Given the description of an element on the screen output the (x, y) to click on. 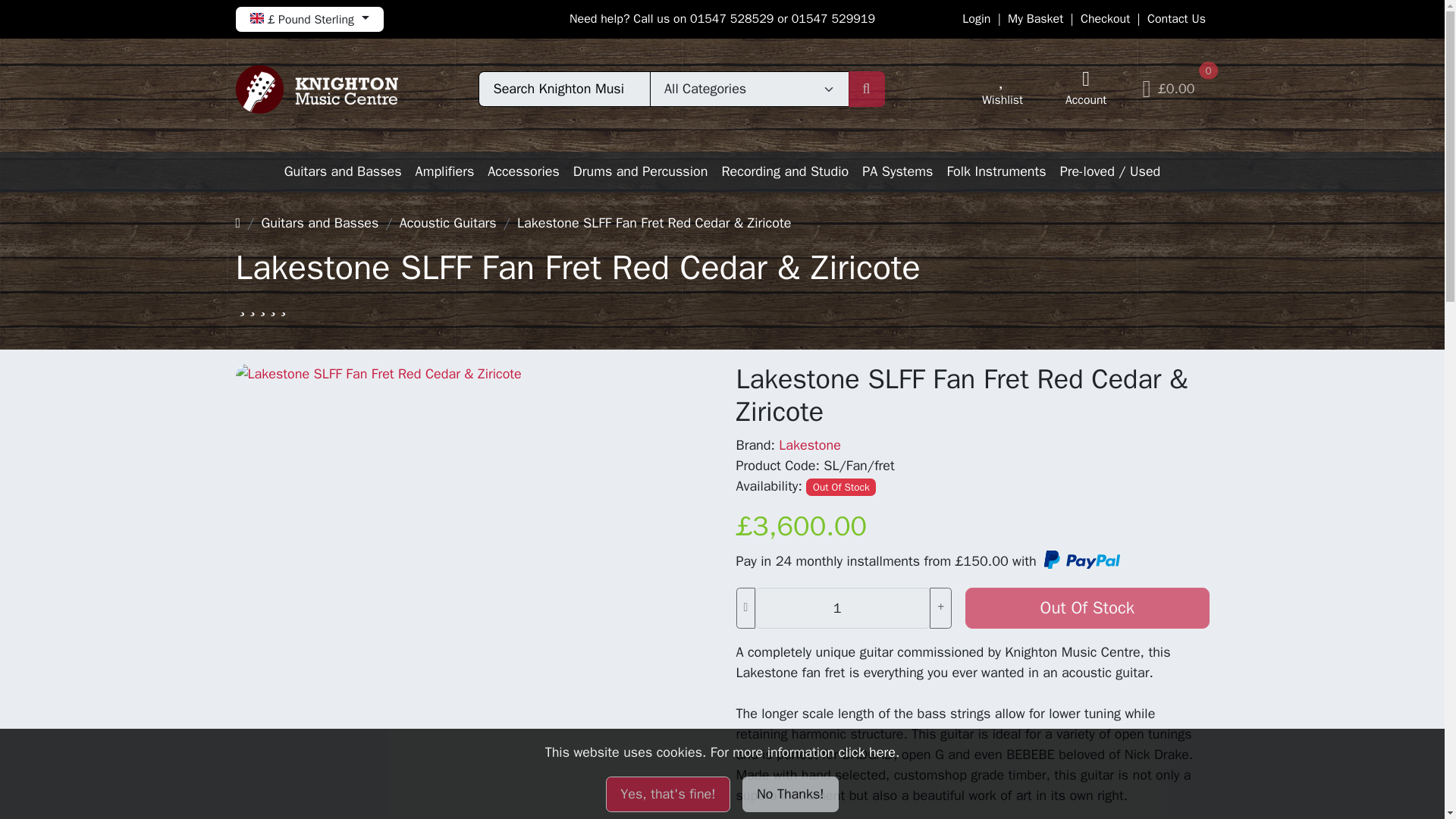
Accessories (523, 171)
01547 528529 (731, 18)
Wishlist (1002, 89)
Login (976, 18)
Currency (308, 18)
Contact Us (1176, 18)
01547 529919 (833, 18)
Checkout (1104, 18)
0Wishlist  (1002, 89)
My Basket (1034, 18)
